Given the description of an element on the screen output the (x, y) to click on. 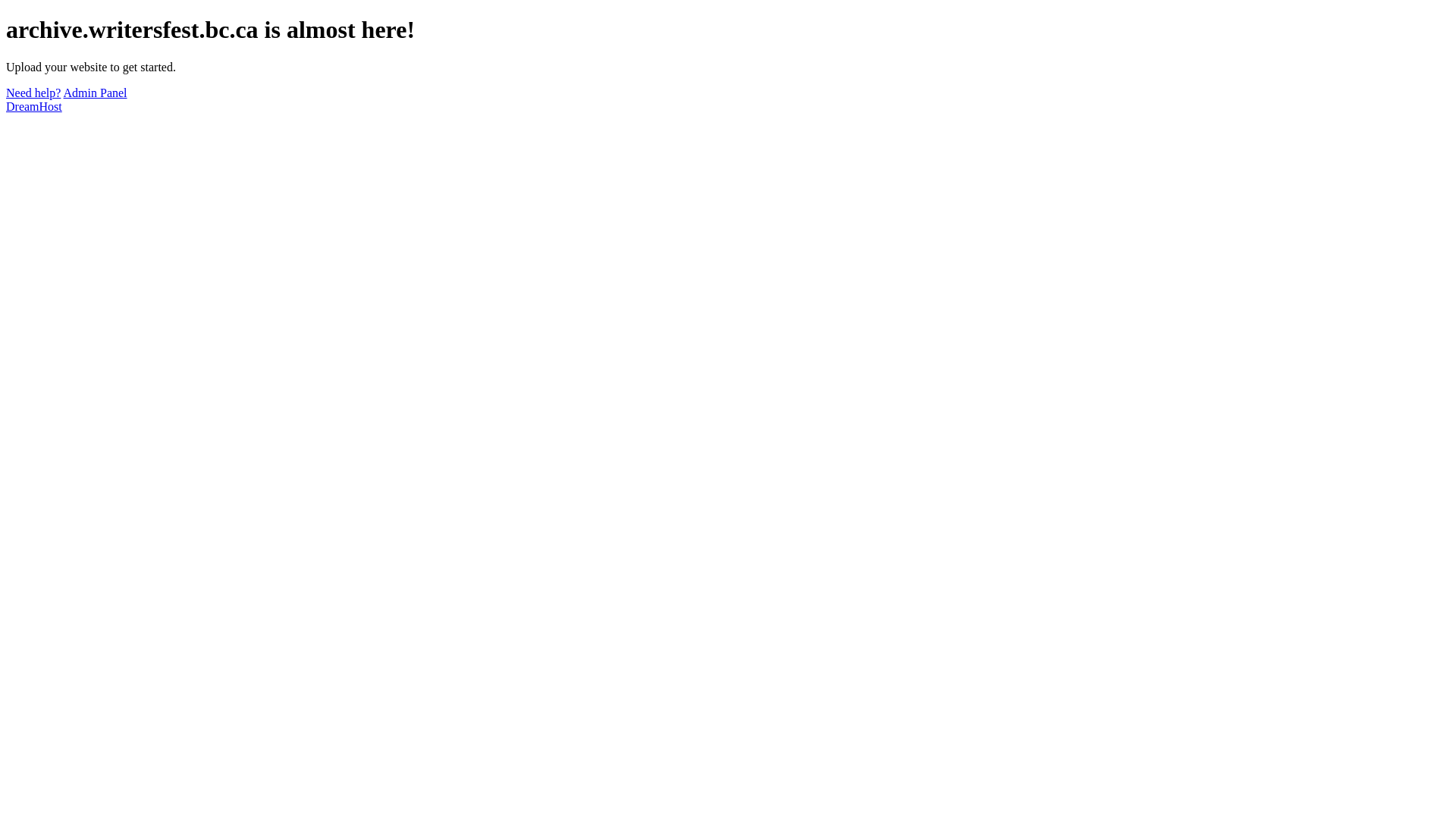
Admin Panel Element type: text (95, 92)
Need help? Element type: text (33, 92)
DreamHost Element type: text (34, 106)
